Given the description of an element on the screen output the (x, y) to click on. 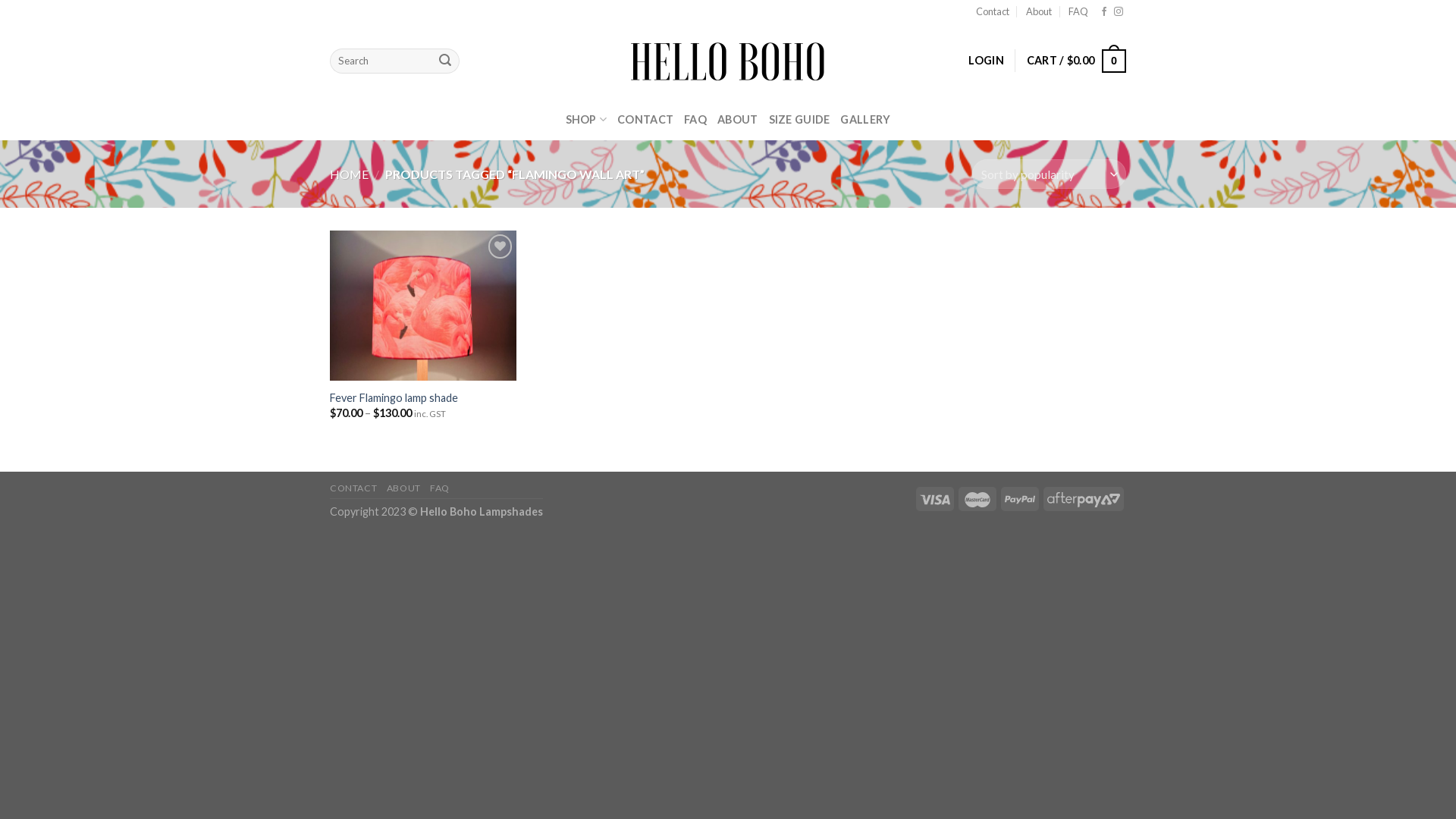
CART / $0.00
0 Element type: text (1076, 60)
GALLERY Element type: text (865, 119)
Fever Flamingo lamp shade Element type: text (393, 398)
FAQ Element type: text (439, 487)
About Element type: text (1038, 11)
CONTACT Element type: text (352, 487)
SHOP Element type: text (586, 119)
ABOUT Element type: text (737, 119)
FAQ Element type: text (695, 119)
Follow on Facebook Element type: hover (1103, 11)
Follow on Instagram Element type: hover (1118, 11)
Search Element type: text (445, 61)
SIZE GUIDE Element type: text (799, 119)
HOME Element type: text (348, 173)
CONTACT Element type: text (645, 119)
ABOUT Element type: text (403, 487)
FAQ Element type: text (1078, 11)
Contact Element type: text (992, 11)
LOGIN Element type: text (985, 60)
